Given the description of an element on the screen output the (x, y) to click on. 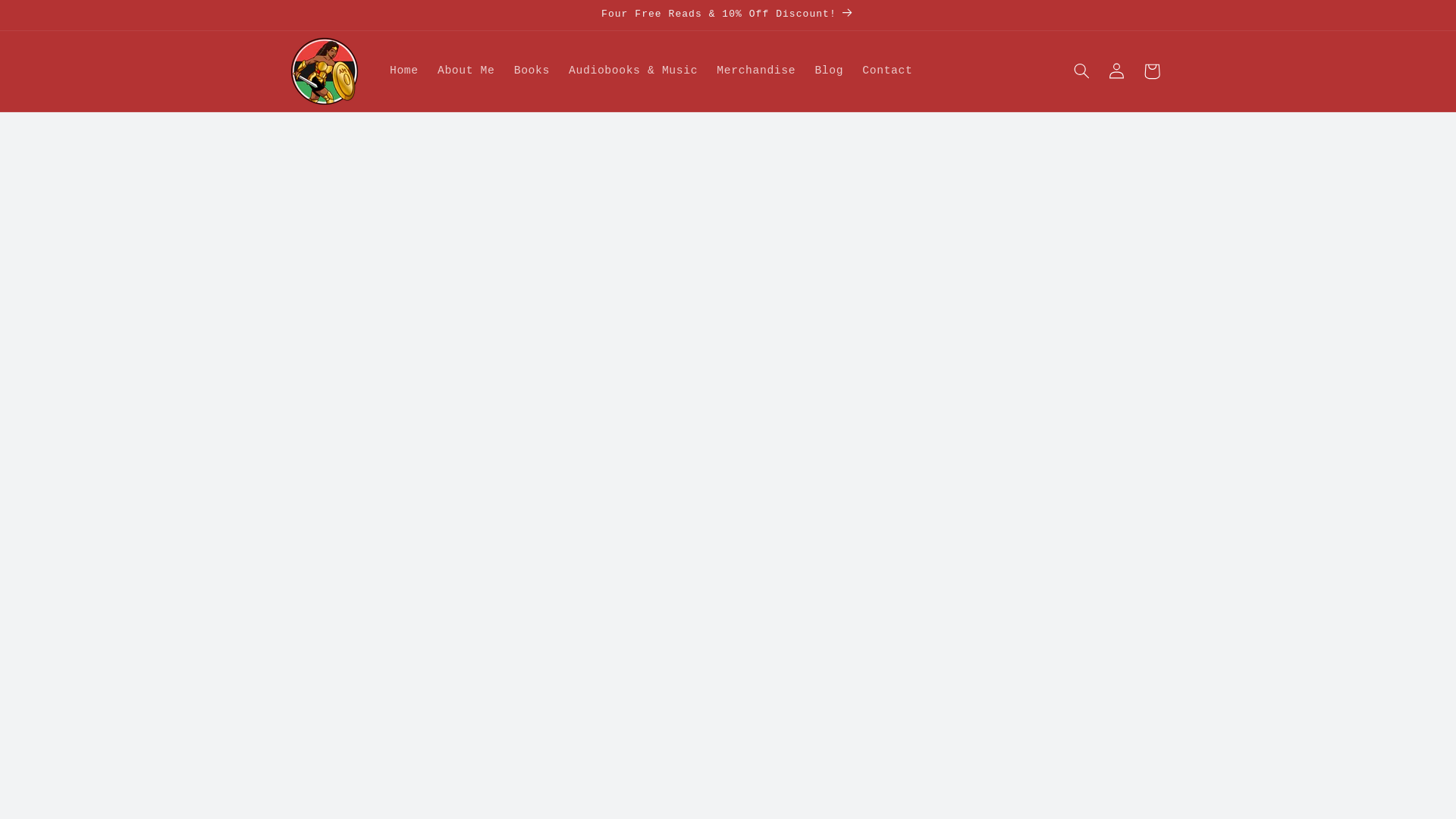
Blog (829, 70)
Skip to content (48, 18)
Merchandise (756, 70)
Contact (887, 70)
Cart (1151, 71)
About Me (465, 70)
Home (404, 70)
Books (531, 70)
Log in (1116, 71)
